Given the description of an element on the screen output the (x, y) to click on. 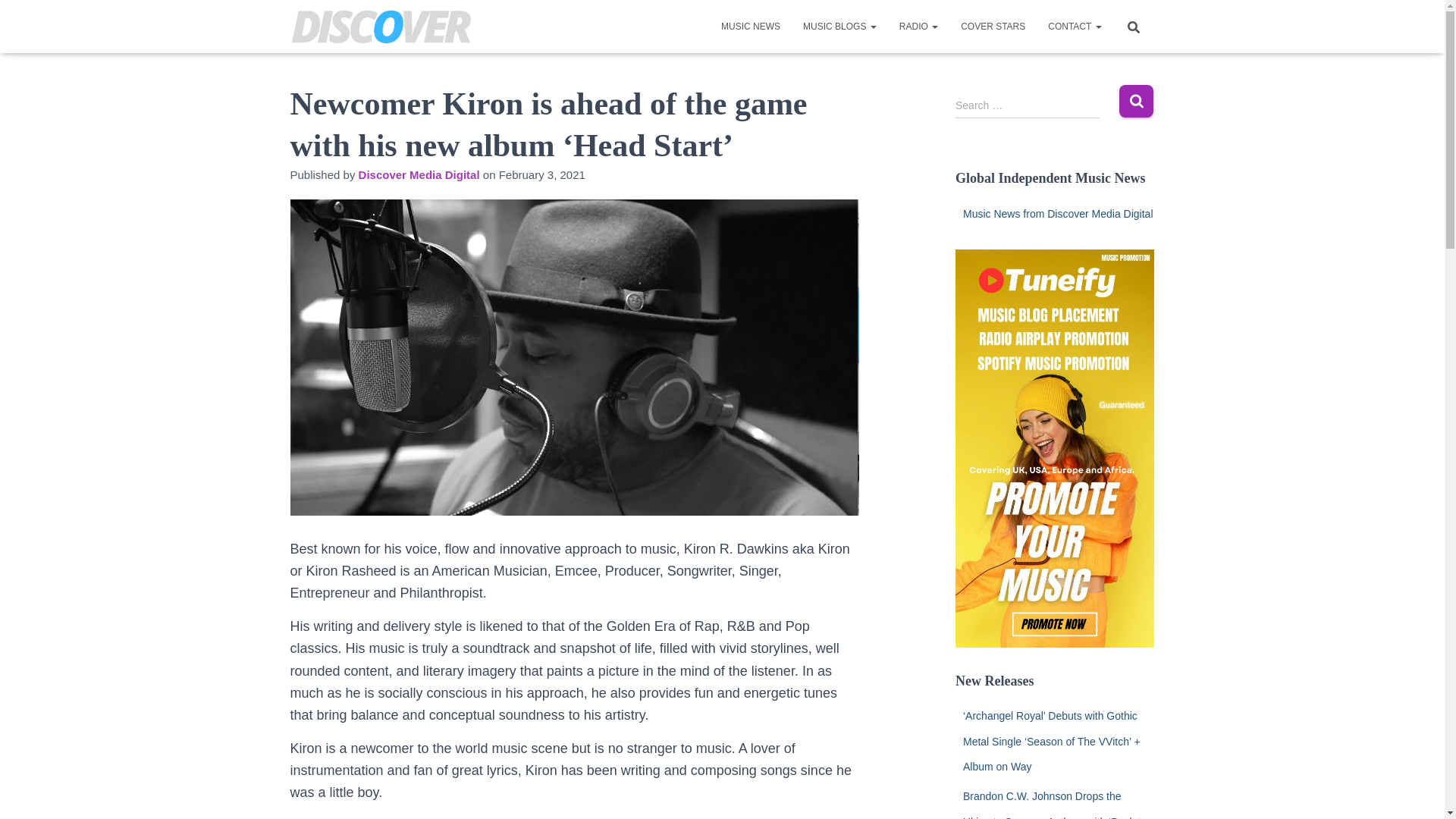
CONTACT (1074, 26)
MUSIC BLOGS (840, 26)
Radio (918, 26)
RADIO (918, 26)
Search (1136, 101)
COVER STARS (992, 26)
MUSIC NEWS (751, 26)
Music News (751, 26)
Search (1136, 101)
Discover Media Digital (419, 174)
Music Blogs (840, 26)
